Given the description of an element on the screen output the (x, y) to click on. 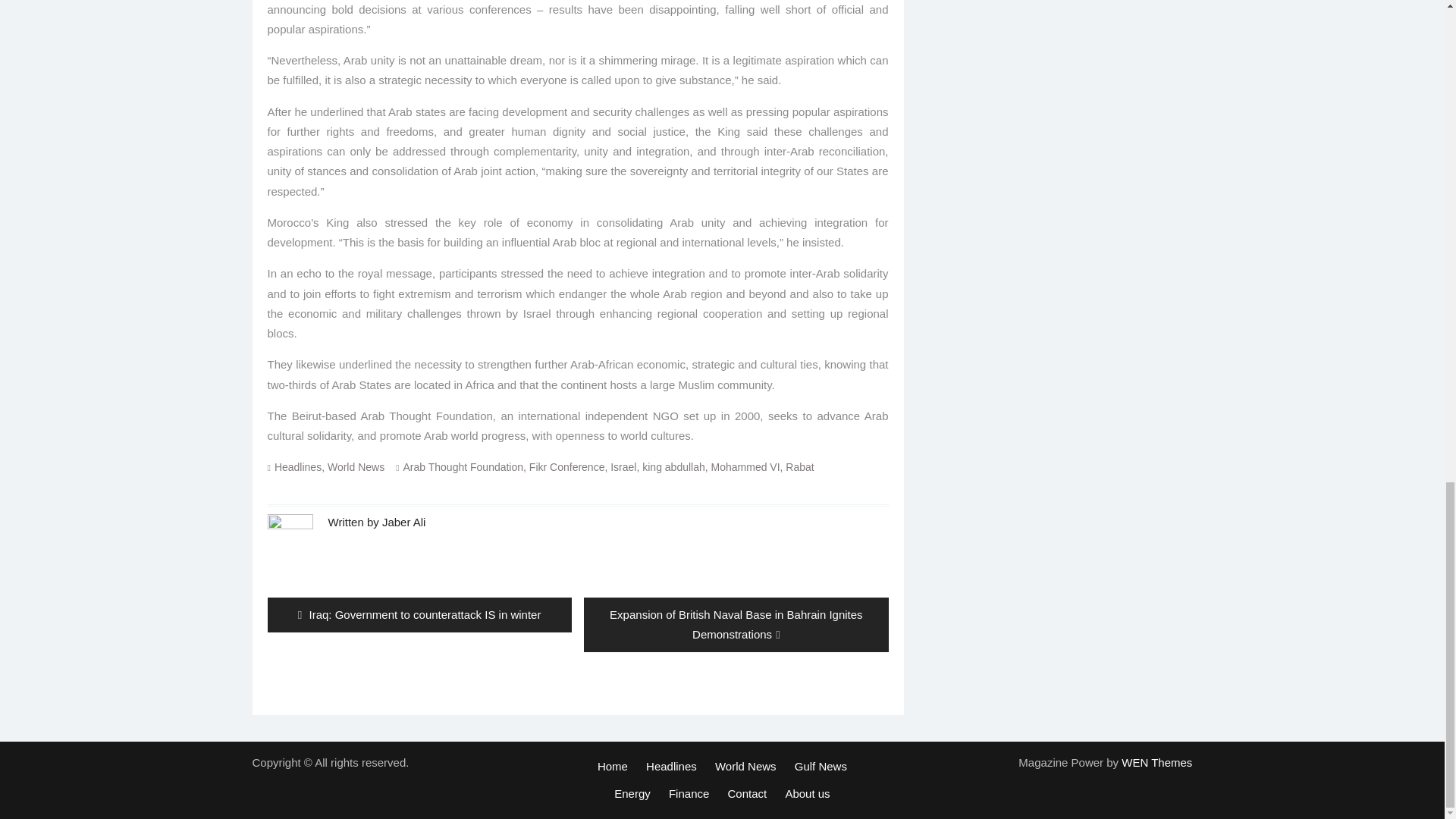
king abdullah (673, 467)
Arab Thought Foundation (463, 467)
Posts by Jaber Ali (403, 521)
World News (355, 467)
Jaber Ali (403, 521)
Rabat (799, 467)
Mohammed VI (745, 467)
Headlines (298, 467)
Fikr Conference (567, 467)
Israel (623, 467)
